Given the description of an element on the screen output the (x, y) to click on. 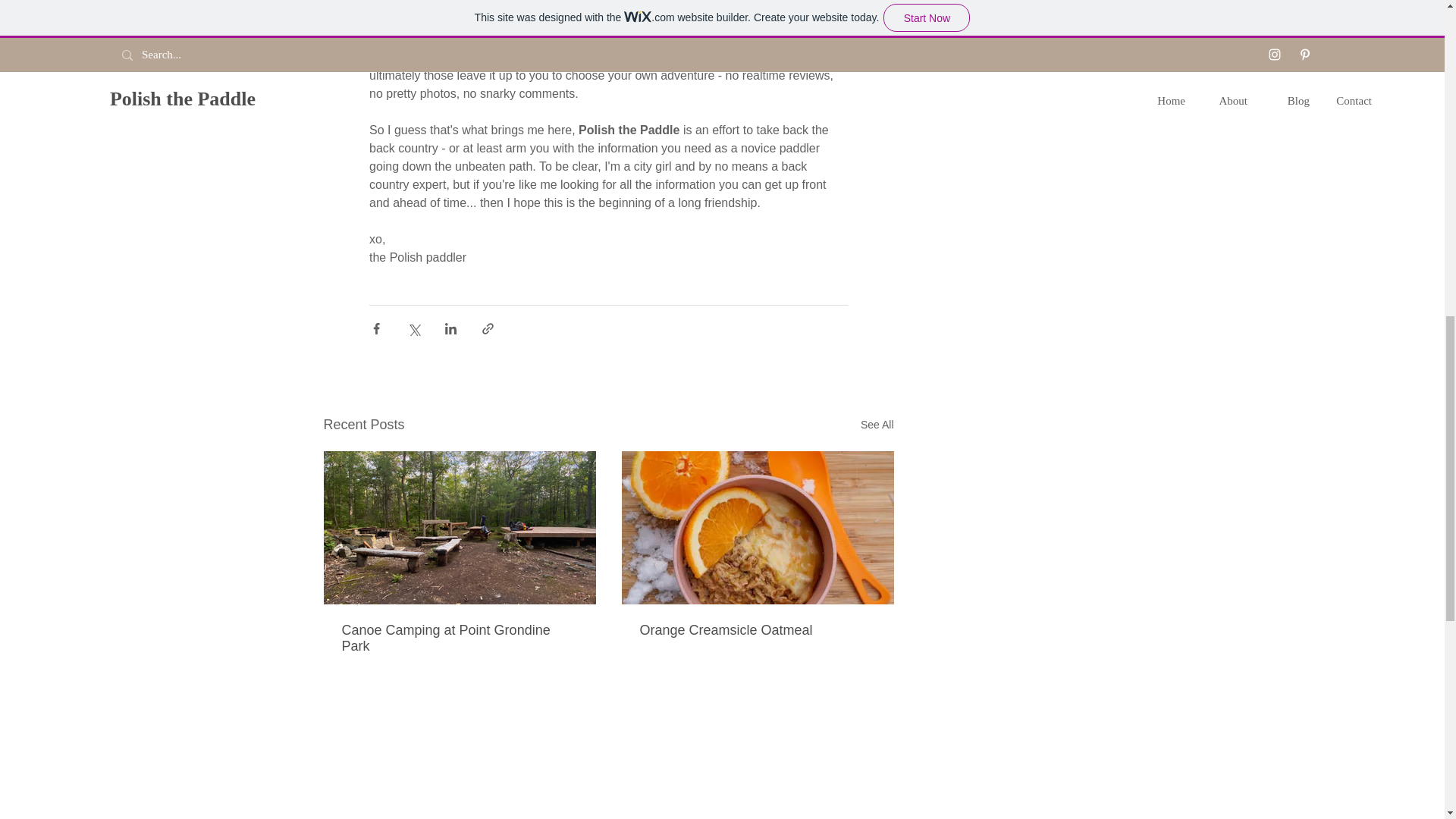
Unlostify (803, 56)
See All (876, 424)
Canoe Camping at Point Grondine Park (458, 638)
Jeff's Maps (722, 56)
Orange Creamsicle Oatmeal (758, 630)
